Given the description of an element on the screen output the (x, y) to click on. 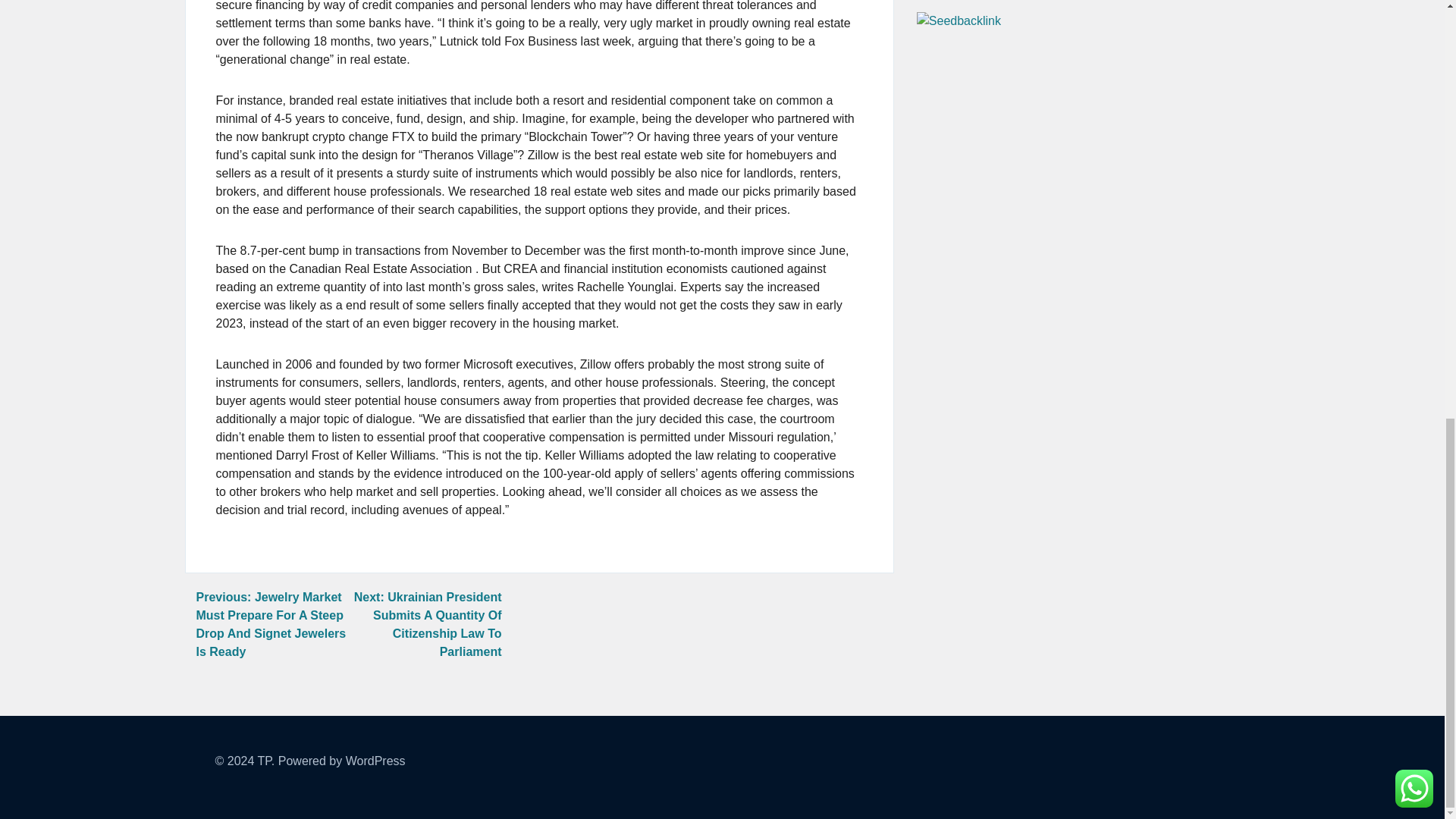
Seedbacklink (959, 21)
